Given the description of an element on the screen output the (x, y) to click on. 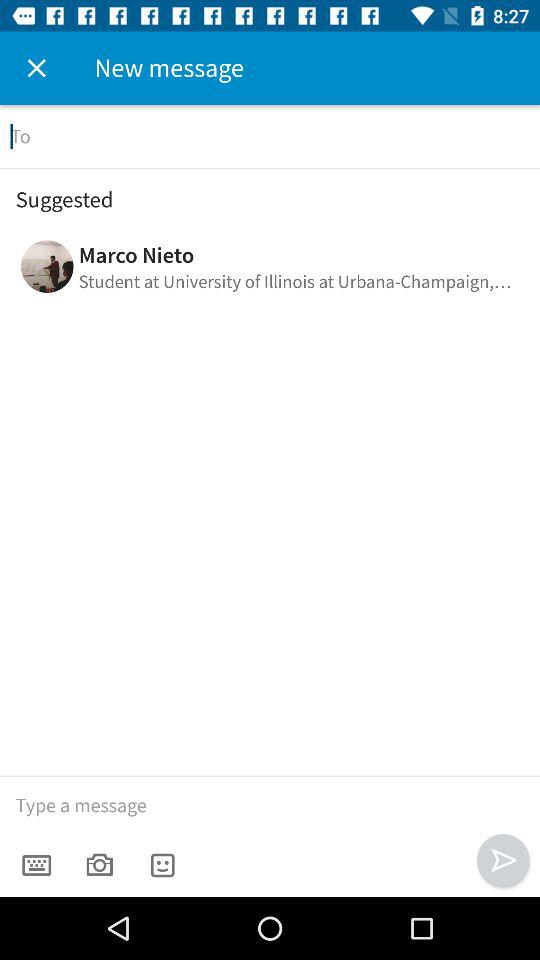
click icon next to new message icon (36, 68)
